Given the description of an element on the screen output the (x, y) to click on. 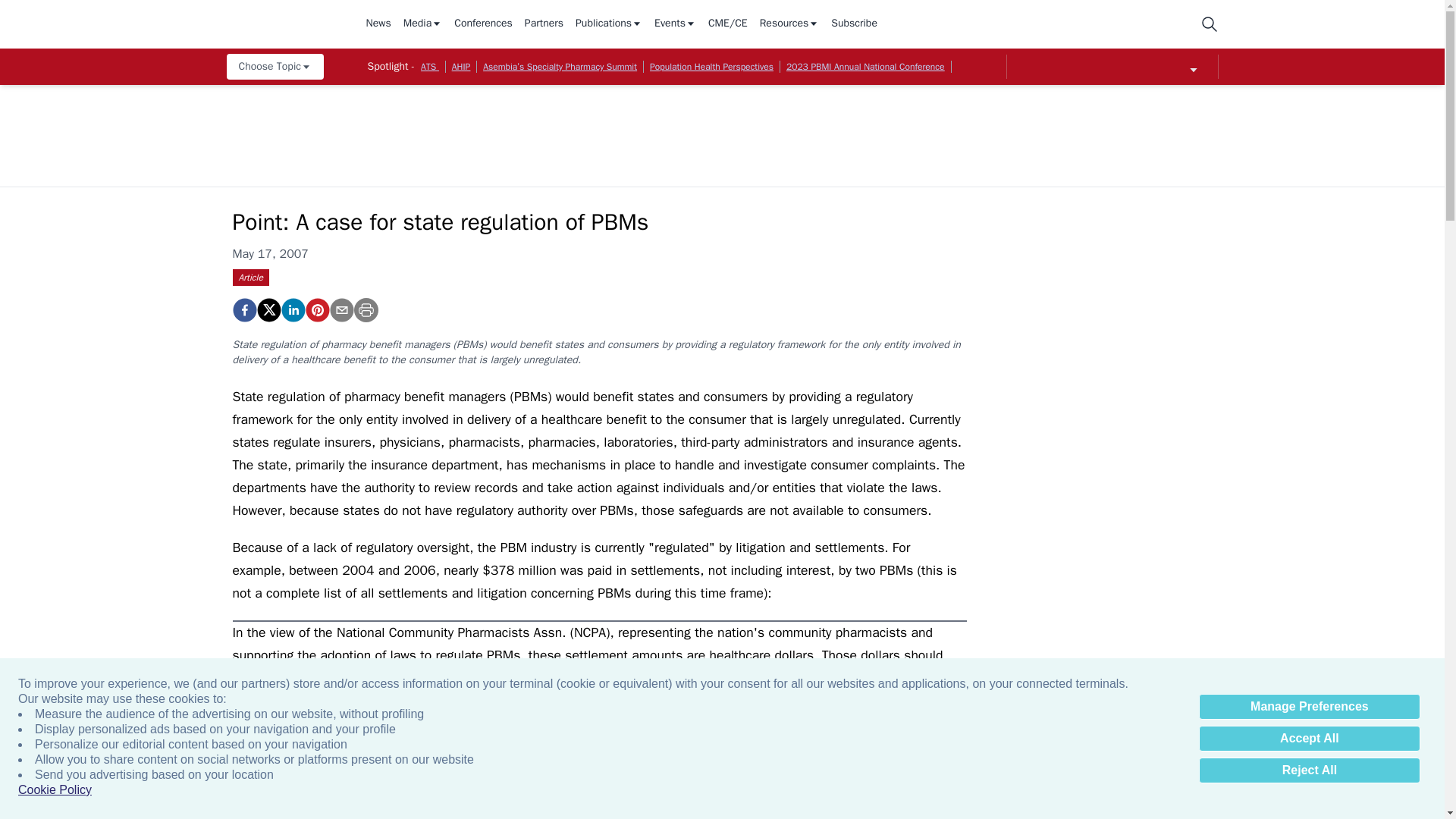
Media (422, 23)
Reject All (1309, 769)
Conferences (483, 23)
Subscribe (854, 23)
Manage Preferences (1309, 706)
Resources (789, 23)
Point: A case for state regulation of PBMs (316, 310)
Choose Topic (274, 66)
Partners (543, 23)
Publications (608, 23)
Events (674, 23)
Cookie Policy (54, 789)
